Given the description of an element on the screen output the (x, y) to click on. 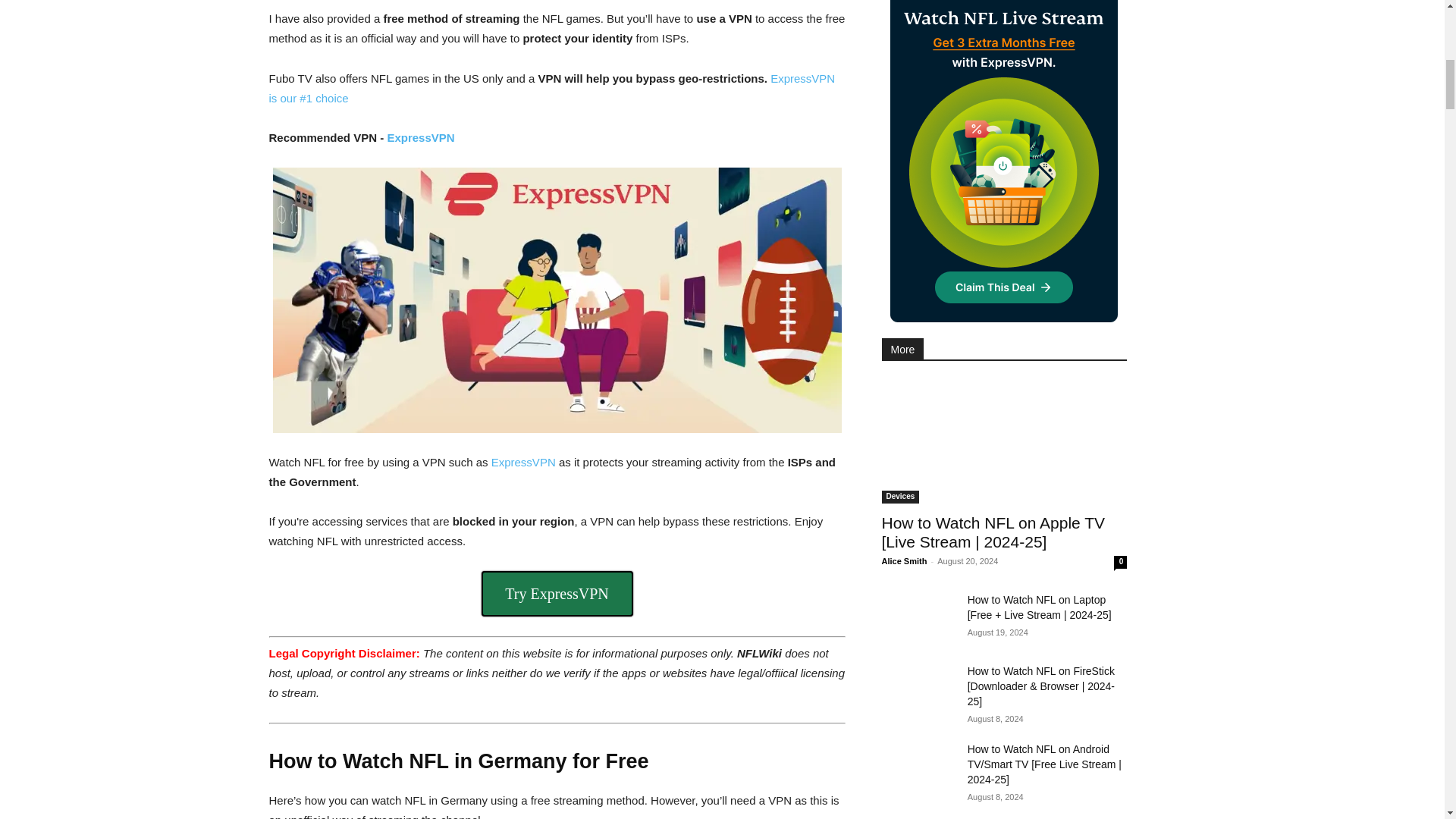
Try ExpressVPN (555, 593)
30-Day Money-Back Guarantee (555, 593)
ExpressVPN (524, 461)
ExpressVPN (420, 137)
